Given the description of an element on the screen output the (x, y) to click on. 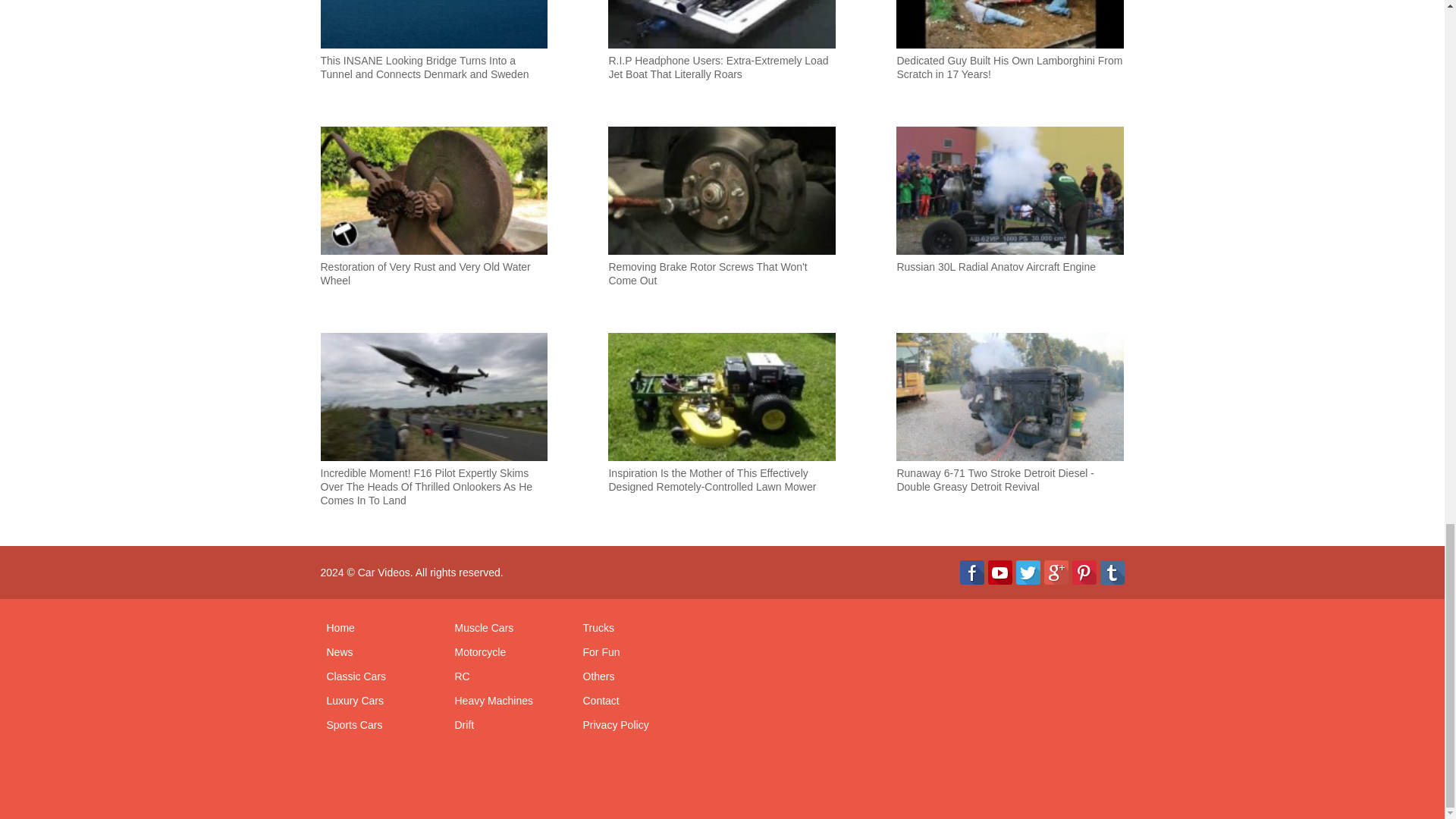
Russian 30L Radial Anatov Aircraft Engine (1010, 224)
Restoration of Very Rust and Very Old Water Wheel (433, 224)
Removing Brake Rotor Screws That Won't Come Out (721, 224)
